Given the description of an element on the screen output the (x, y) to click on. 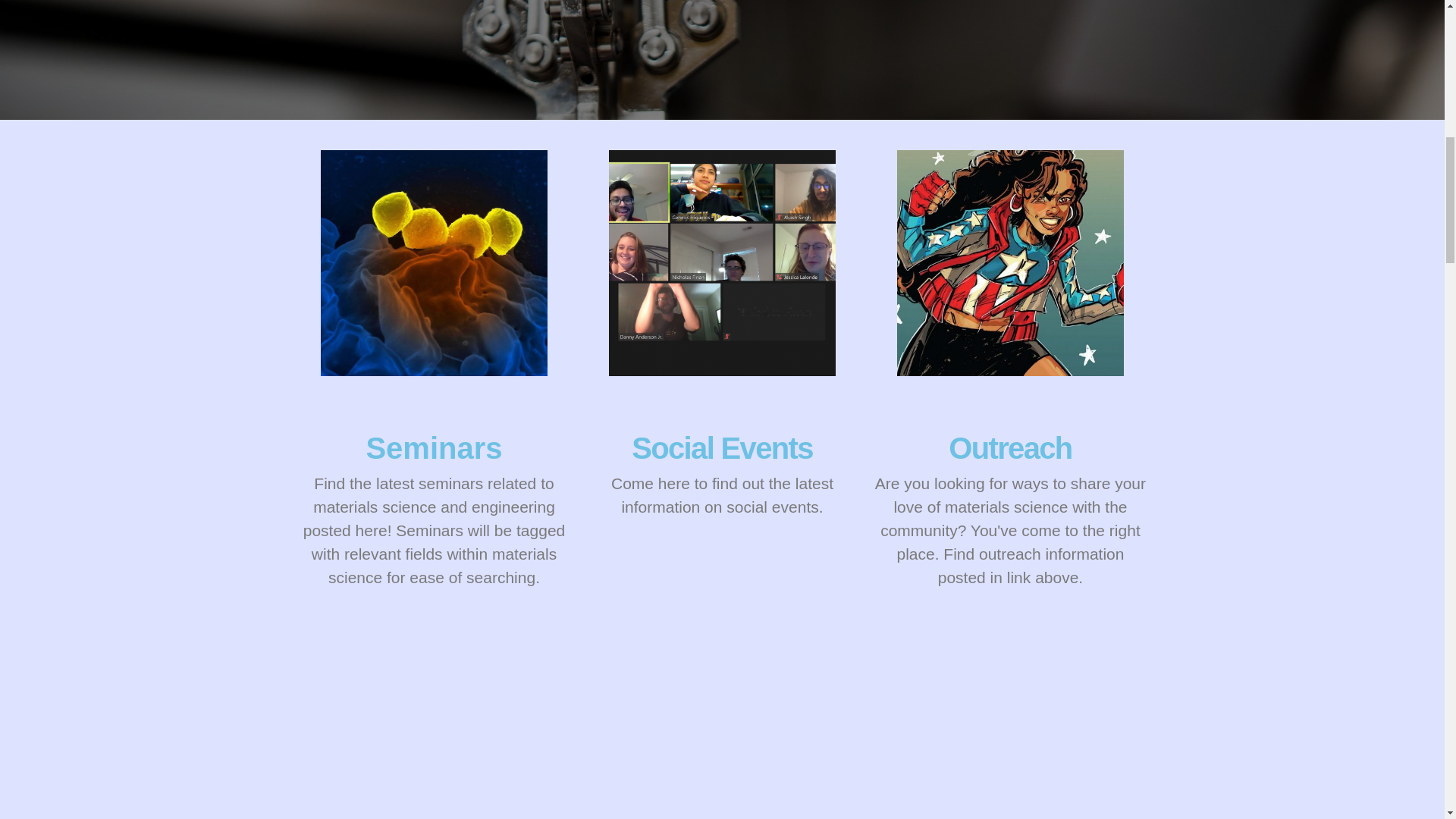
Seminars (433, 448)
img-11369 (1010, 262)
